Given the description of an element on the screen output the (x, y) to click on. 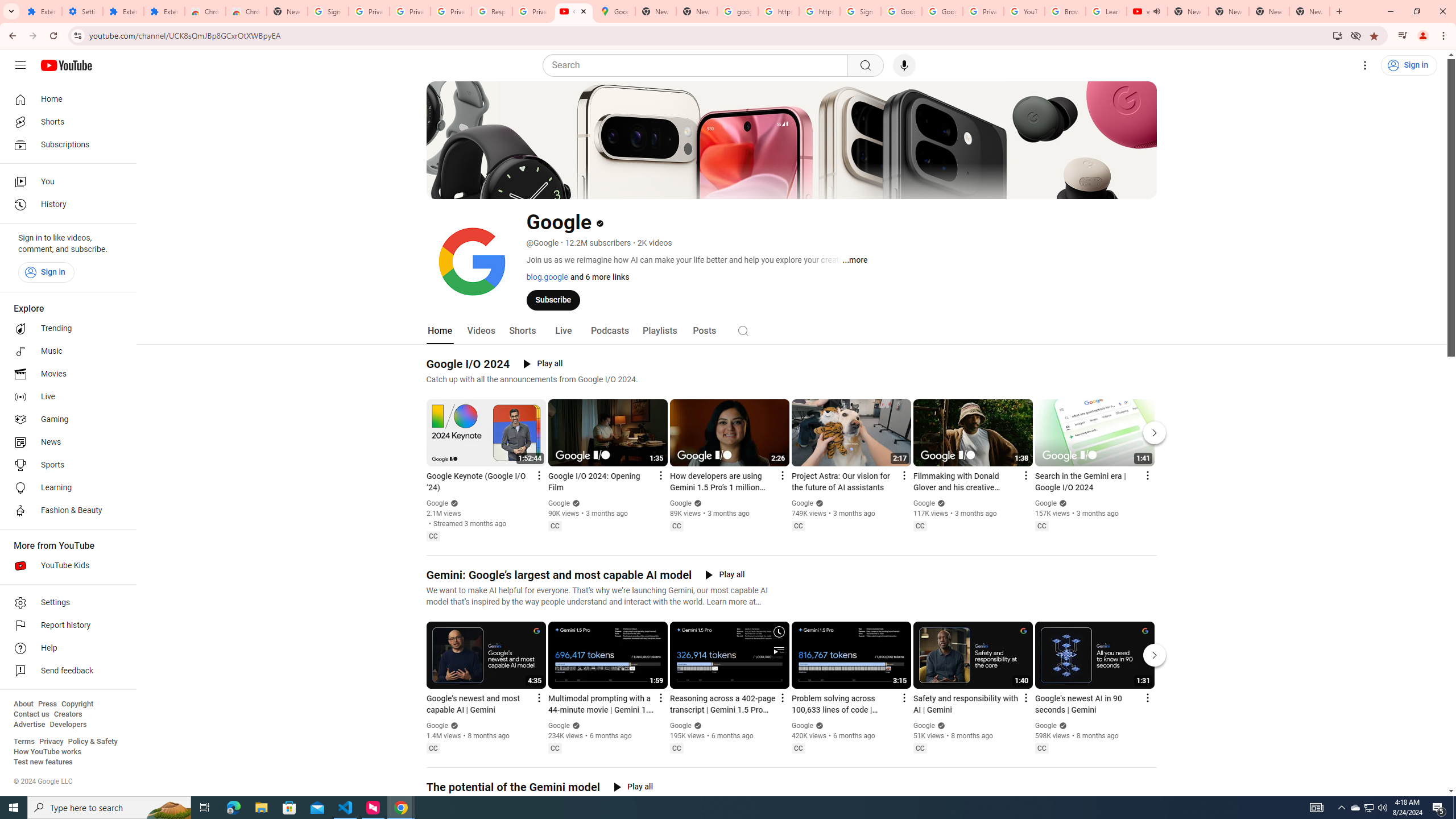
Sign in (45, 272)
Settings (64, 602)
Developers (68, 724)
Shorts (64, 121)
YouTube (1023, 11)
Play all (633, 787)
Send feedback (64, 671)
Chrome (1445, 35)
Search (697, 65)
